Given the description of an element on the screen output the (x, y) to click on. 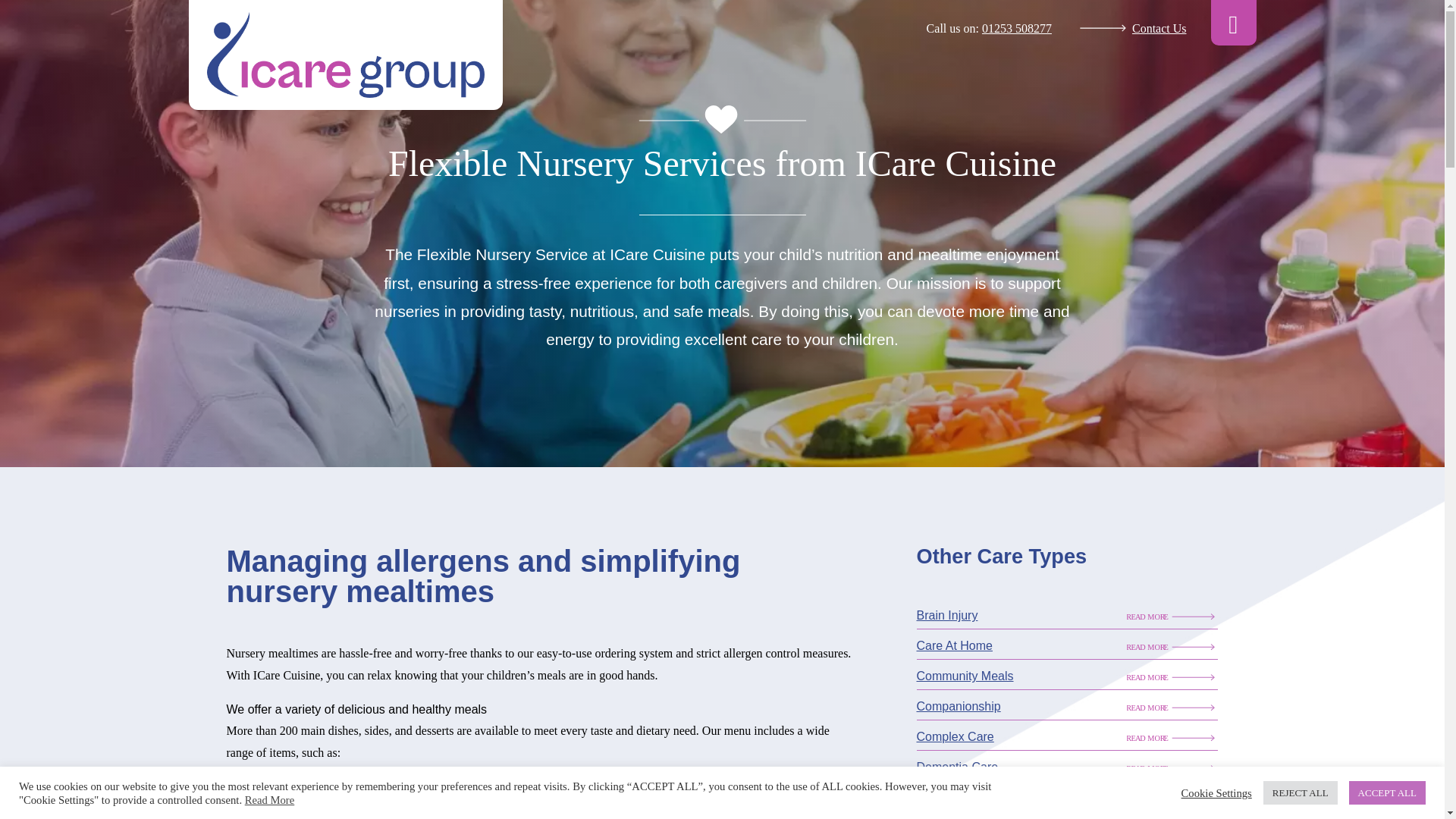
Contact Us (1125, 28)
01253 508277 (1016, 28)
